Given the description of an element on the screen output the (x, y) to click on. 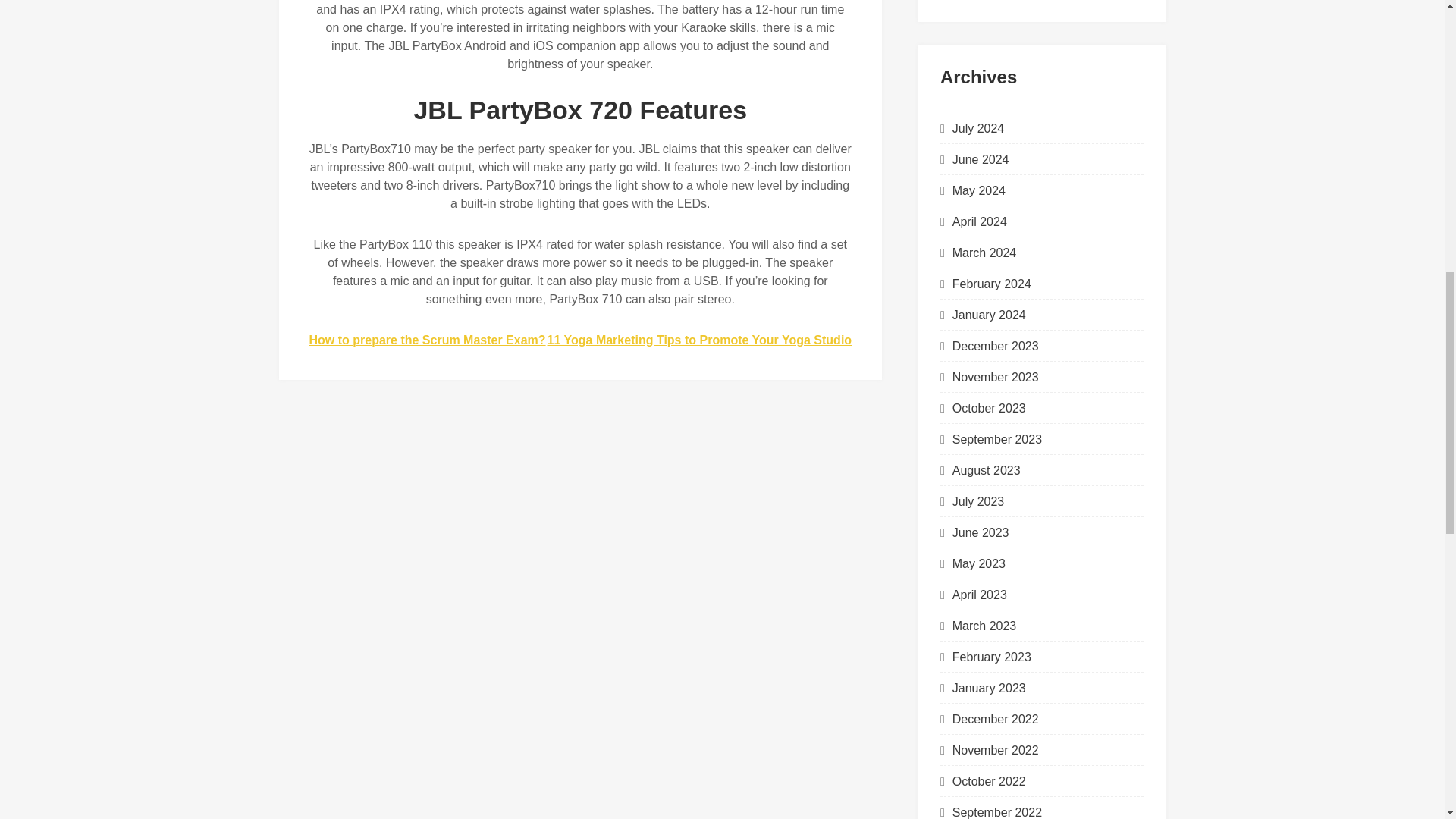
How to prepare the Scrum Master Exam? (427, 339)
11 Yoga Marketing Tips to Promote Your Yoga Studio (699, 339)
